Given the description of an element on the screen output the (x, y) to click on. 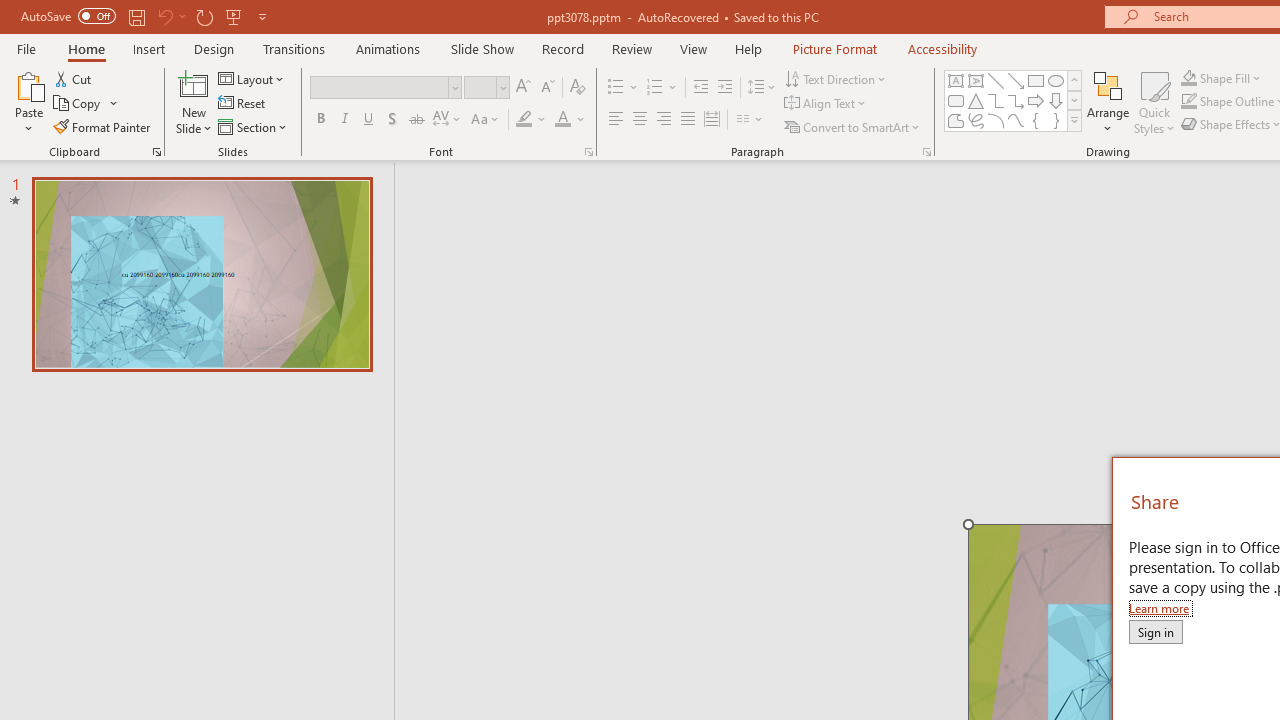
Learn more (1160, 608)
